Given the description of an element on the screen output the (x, y) to click on. 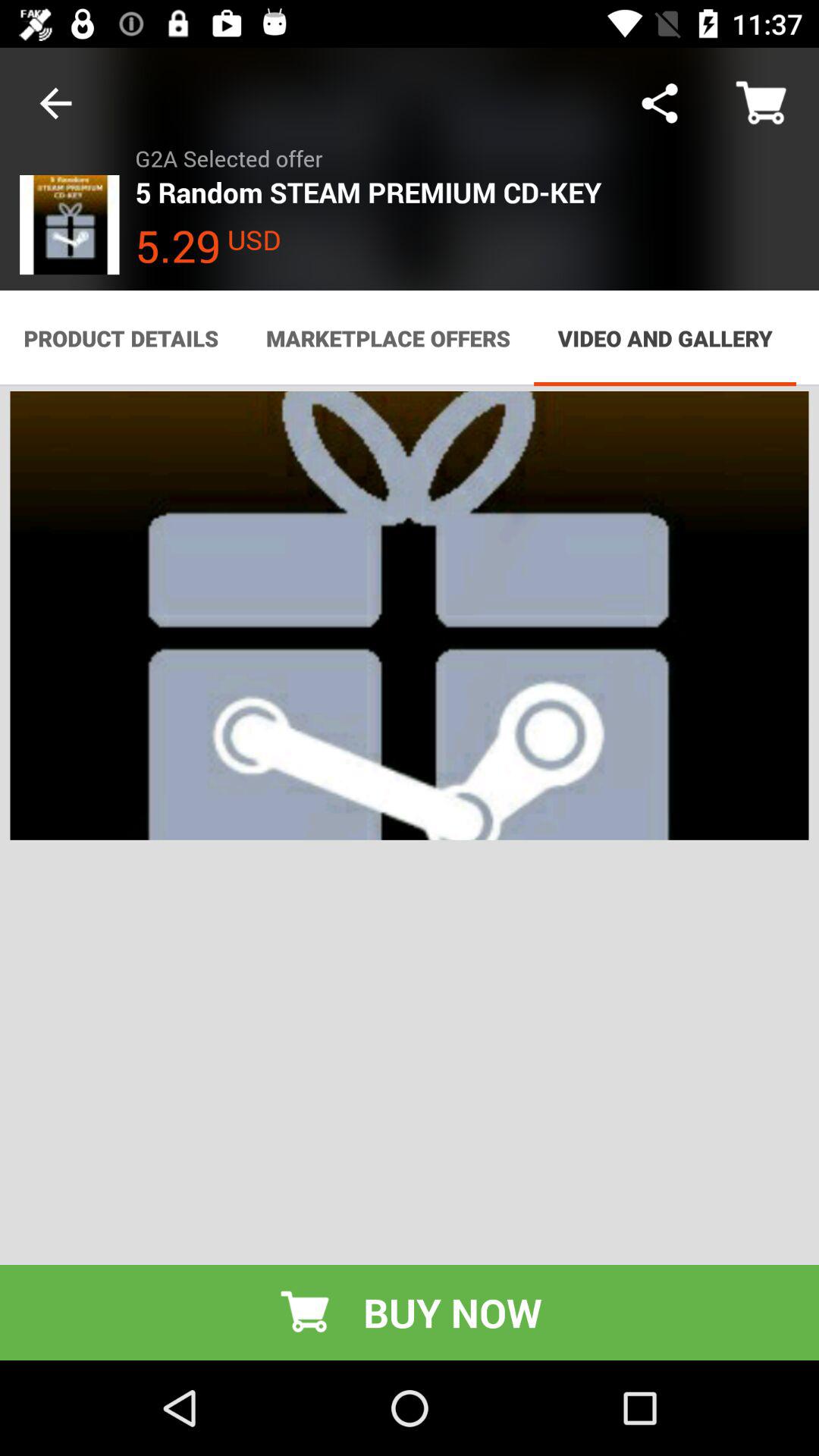
launch the item to the left of the g2a selected offer item (55, 103)
